Given the description of an element on the screen output the (x, y) to click on. 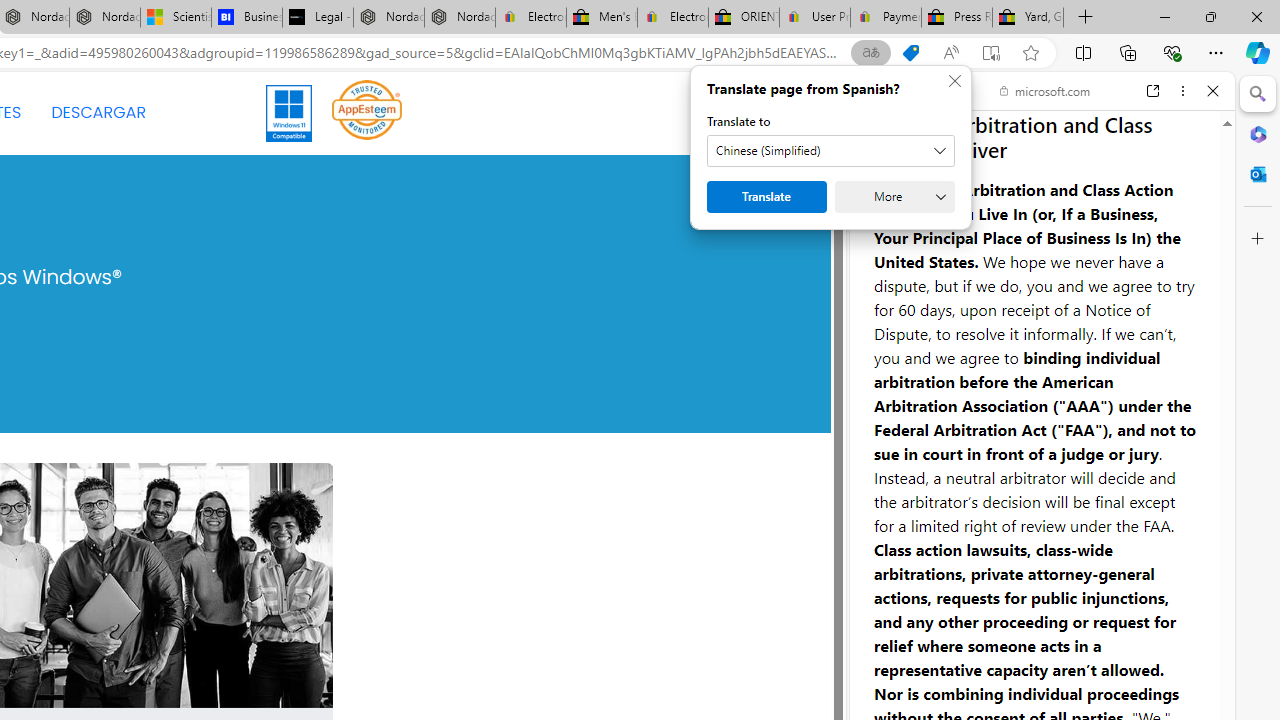
Search the web (1051, 137)
Payments Terms of Use | eBay.com (886, 17)
microsoft.com (1045, 90)
Show translate options (870, 53)
User Privacy Notice | eBay (814, 17)
Minimize Search pane (1258, 94)
